Given the description of an element on the screen output the (x, y) to click on. 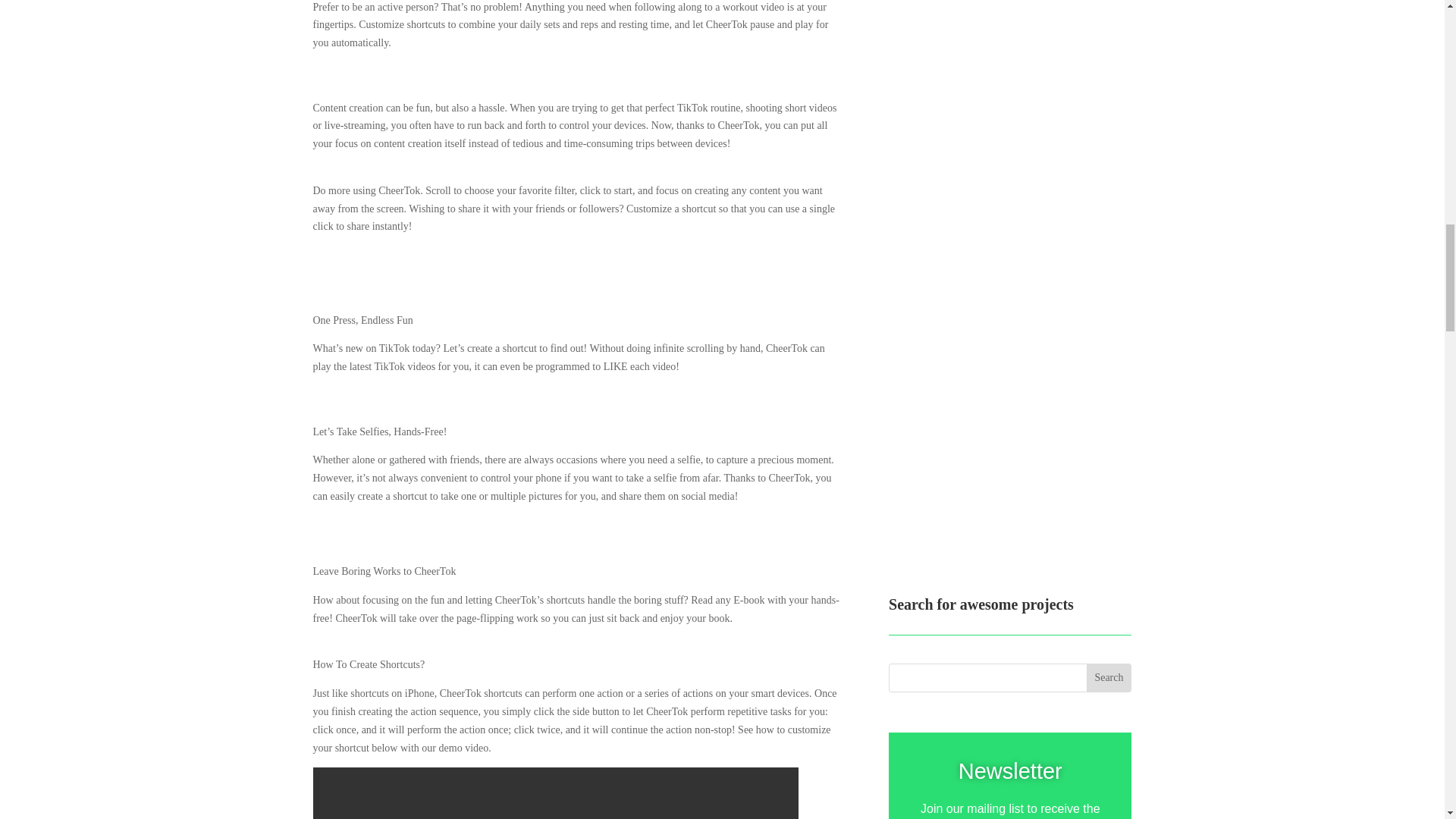
Search (1108, 411)
Search (1108, 411)
SUBSCRIBE! (1009, 679)
Search (1108, 411)
